Given the description of an element on the screen output the (x, y) to click on. 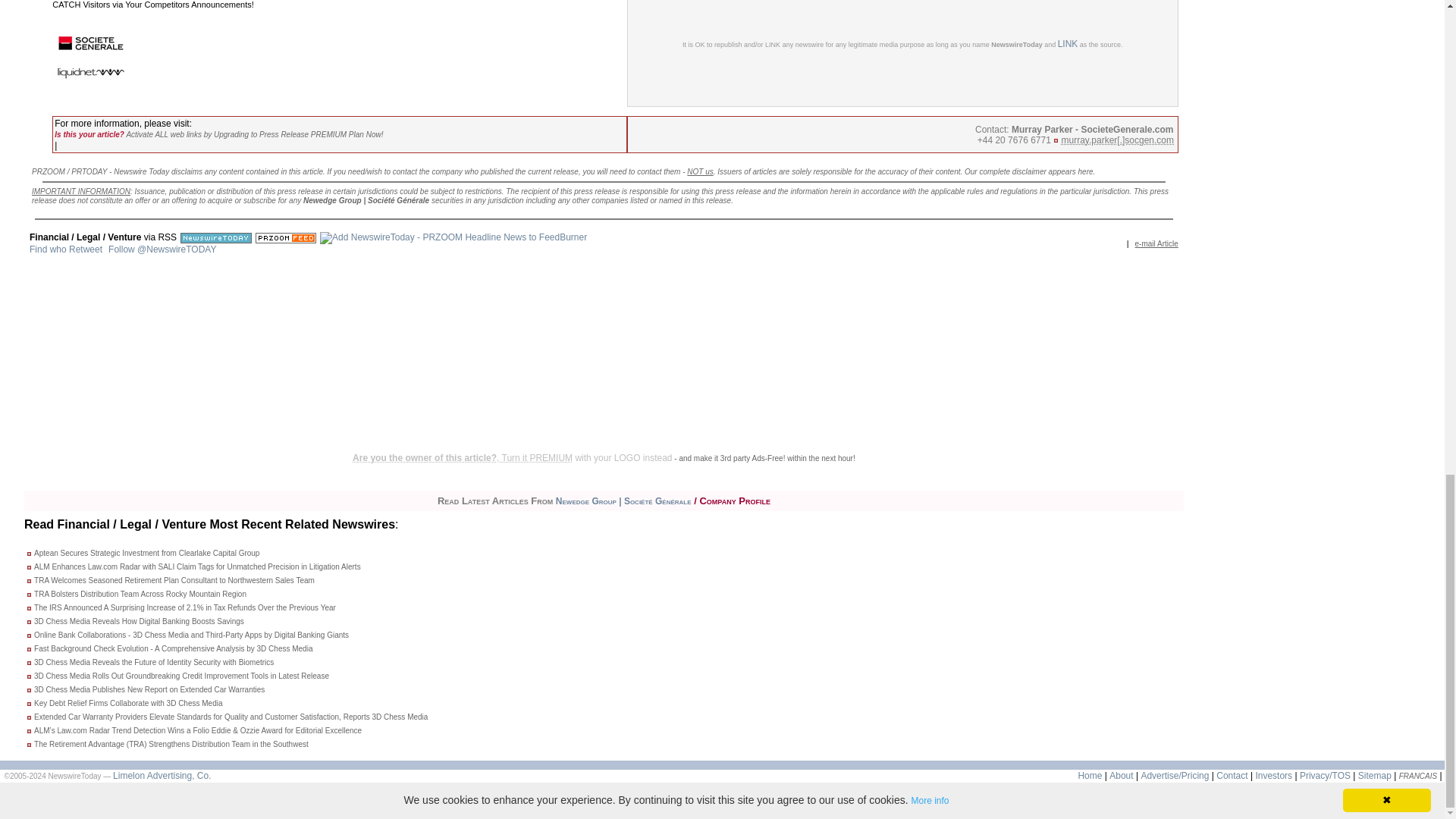
Find who Retweet (65, 249)
LINK (1068, 43)
here (1085, 171)
e-mail Article (1156, 243)
